Given the description of an element on the screen output the (x, y) to click on. 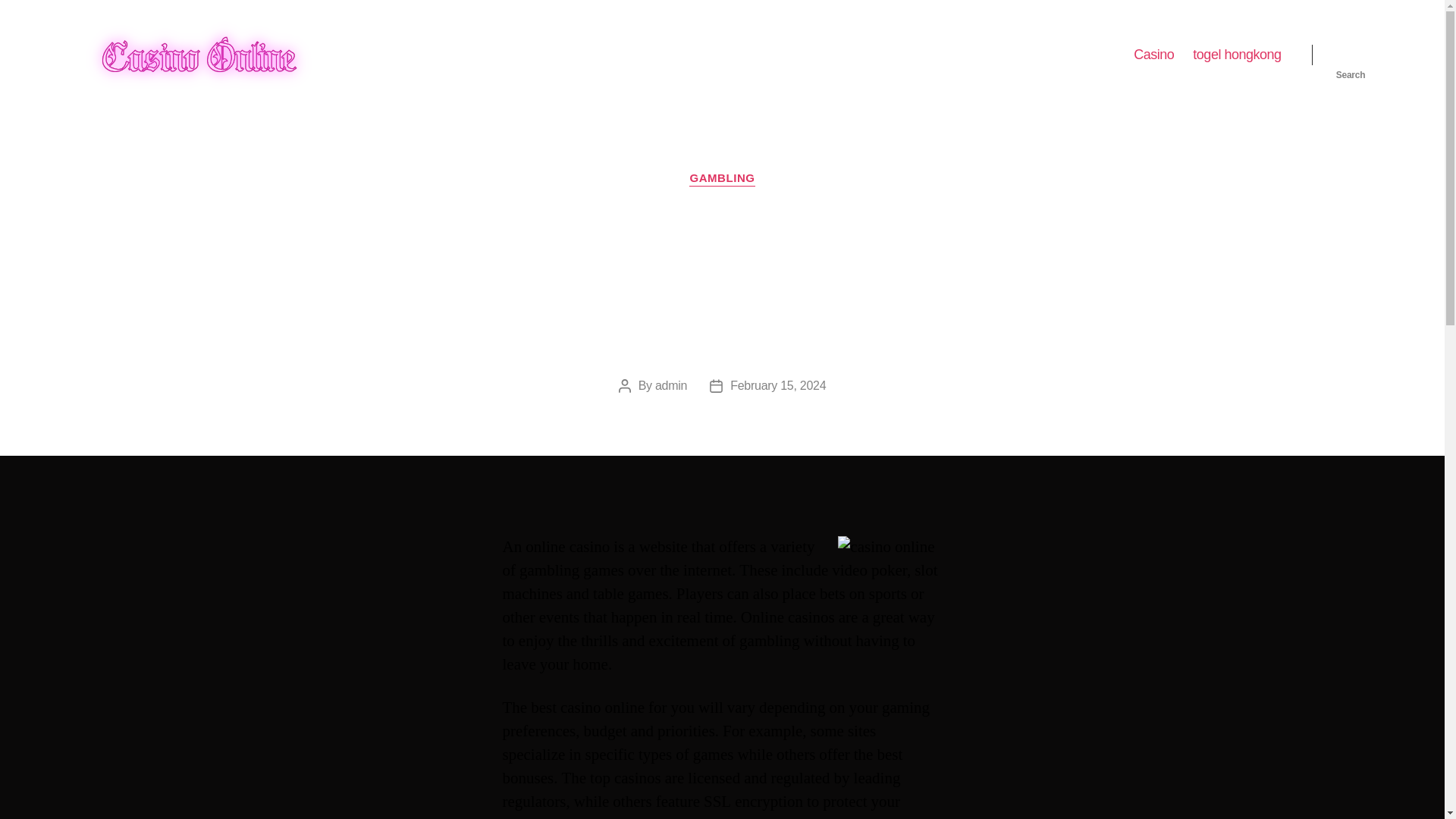
togel hongkong (1236, 54)
admin (671, 385)
Casino (1153, 54)
February 15, 2024 (777, 385)
GAMBLING (721, 178)
Search (1350, 55)
